Given the description of an element on the screen output the (x, y) to click on. 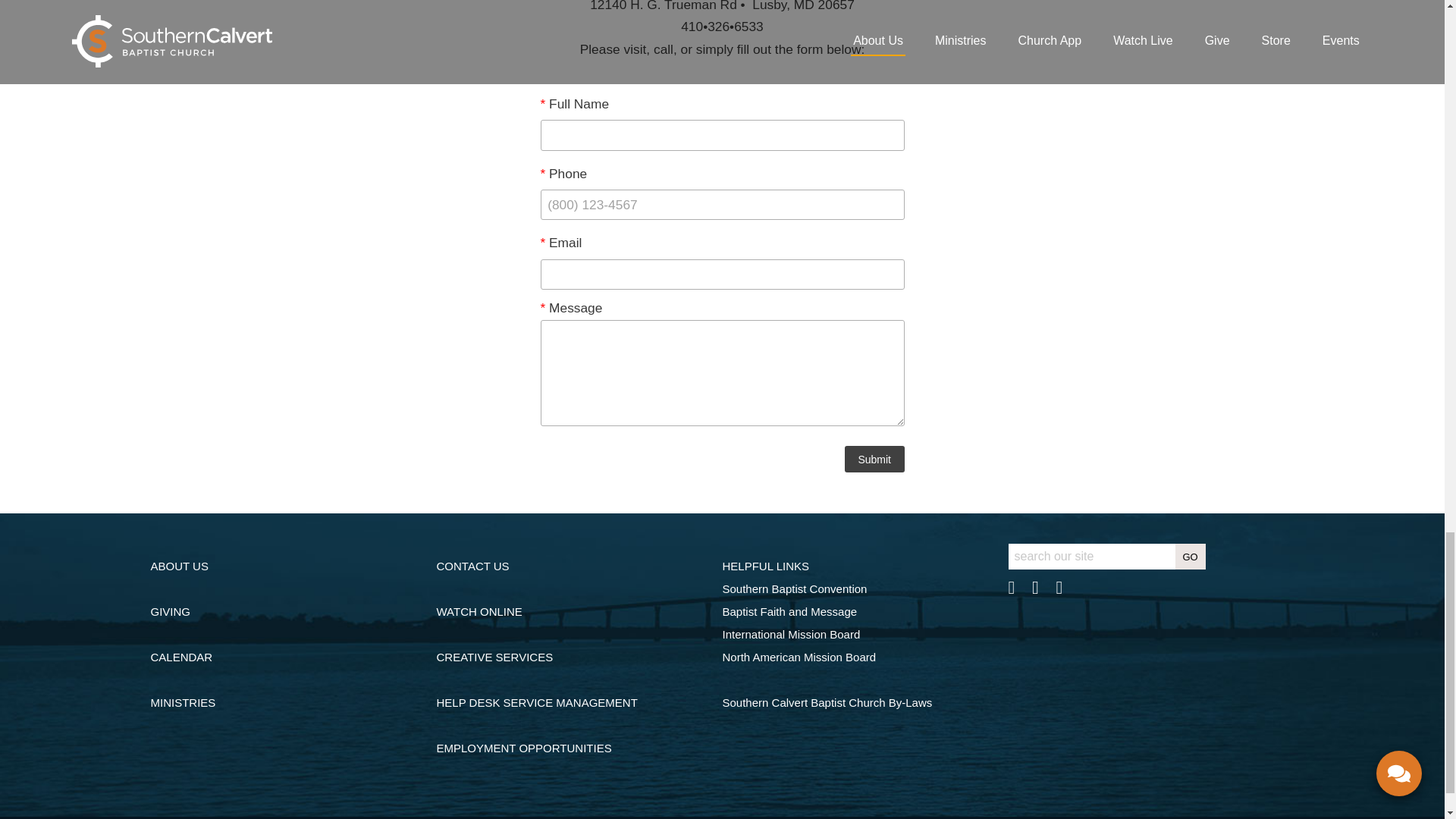
ABOUT US (178, 565)
CALENDAR (180, 656)
MINISTRIES (182, 702)
CONTACT US (472, 565)
Submit (874, 458)
Submit (874, 458)
GIVING (169, 611)
